Given the description of an element on the screen output the (x, y) to click on. 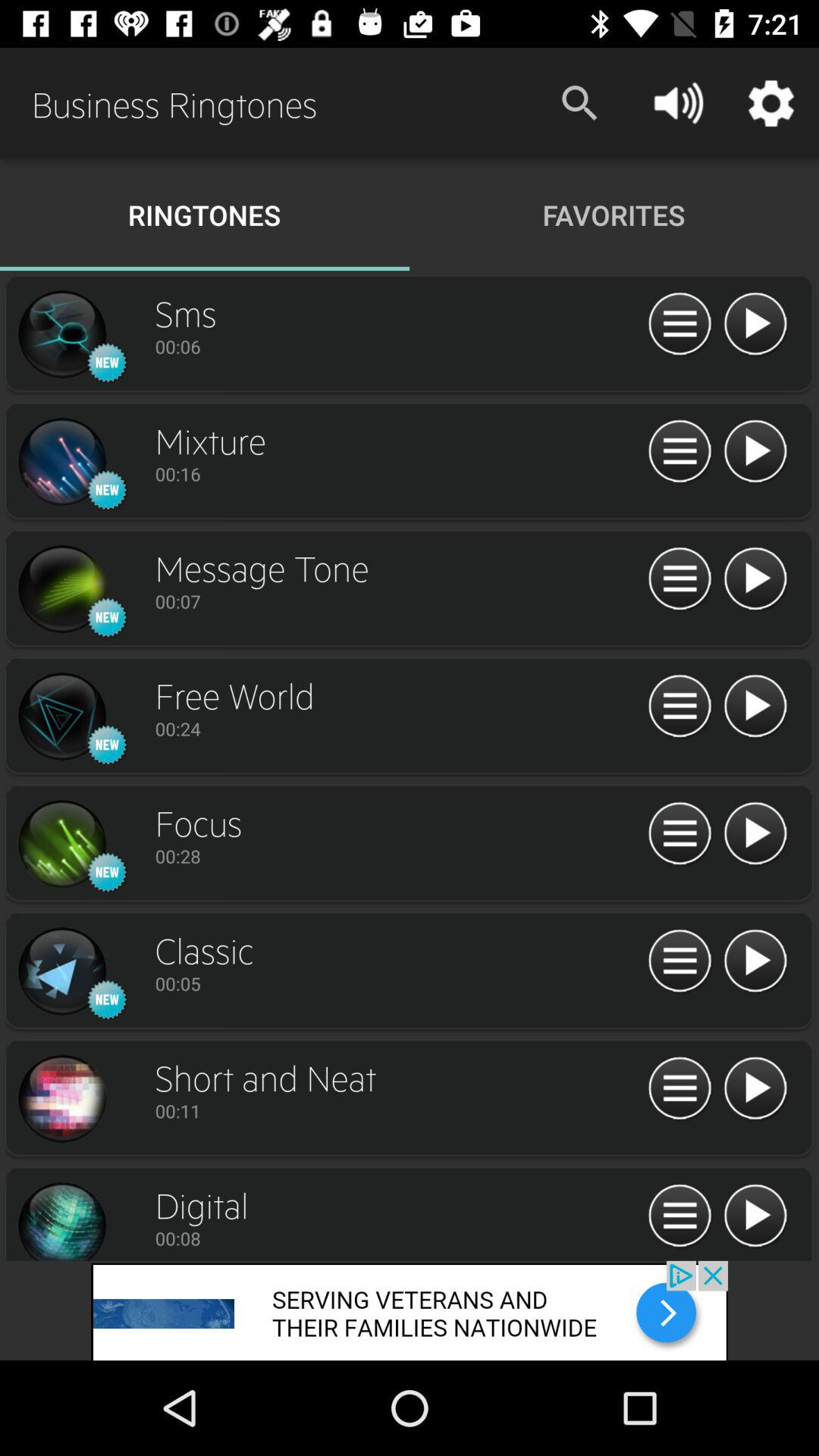
go to play (755, 579)
